Given the description of an element on the screen output the (x, y) to click on. 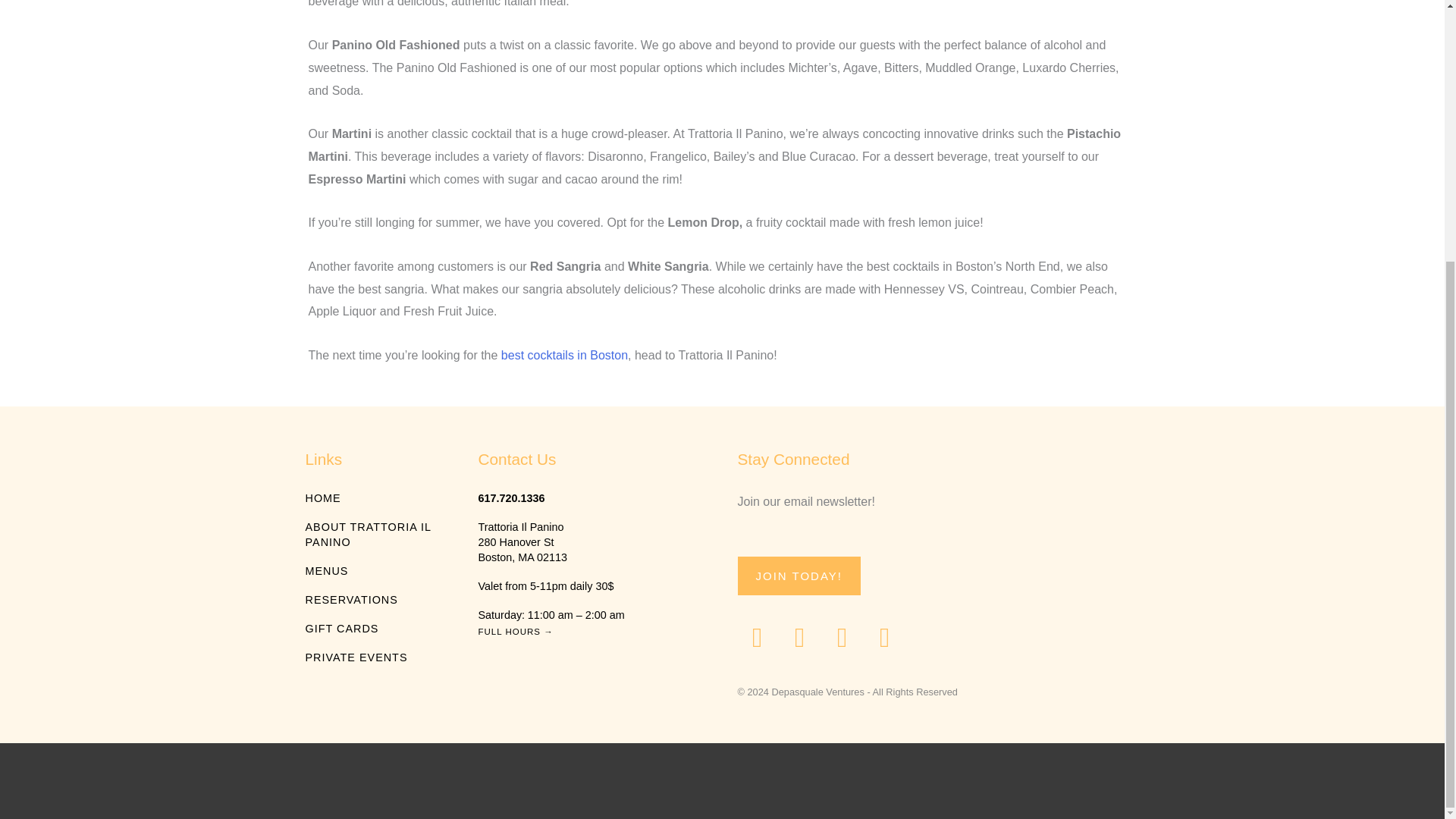
ABOUT TRATTORIA IL PANINO (375, 534)
HOME (375, 498)
best cocktails in Boston (563, 354)
